Given the description of an element on the screen output the (x, y) to click on. 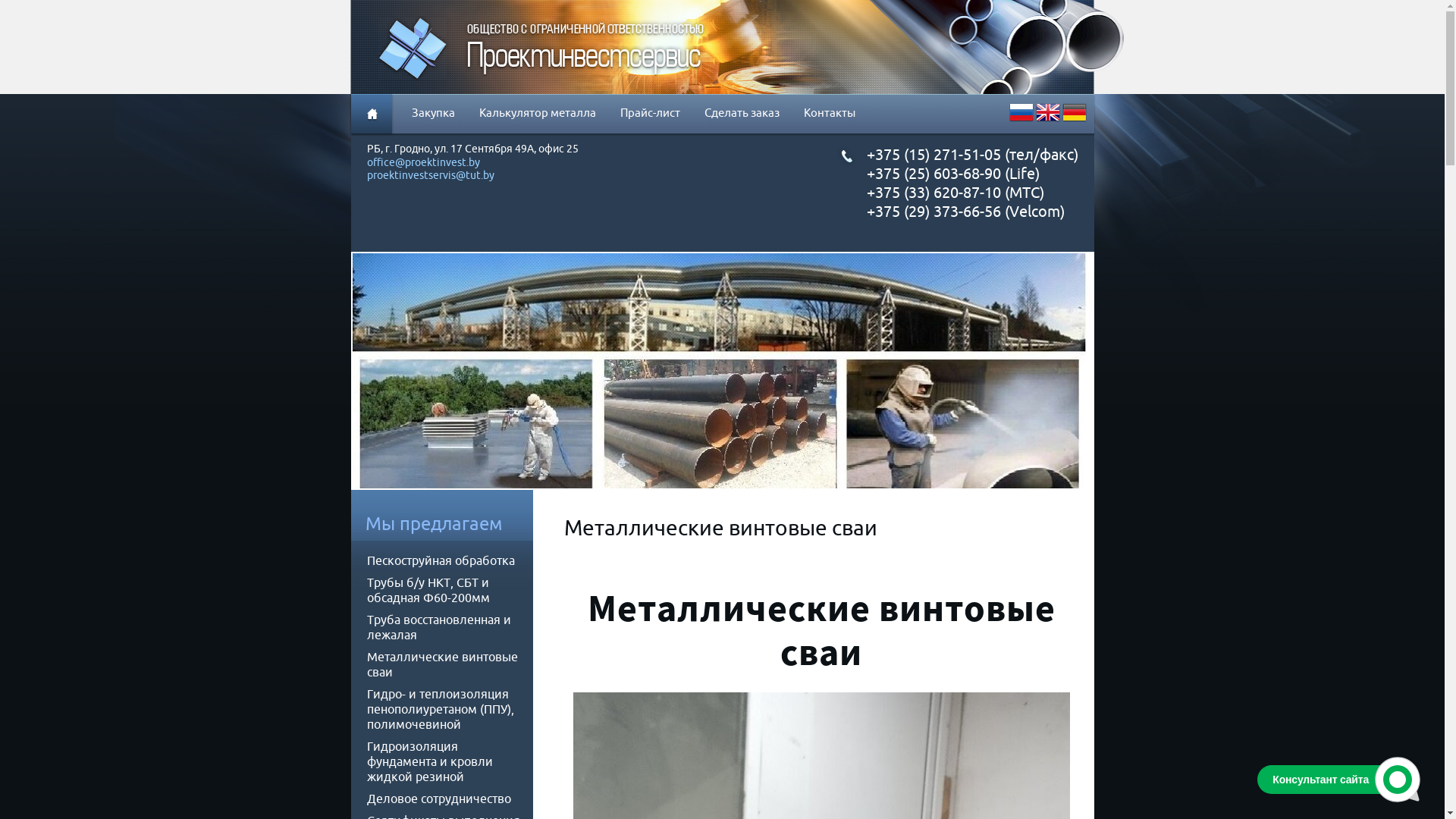
office@proektinvest.by Element type: text (423, 162)
proektinvestservis@tut.by Element type: text (430, 175)
